Given the description of an element on the screen output the (x, y) to click on. 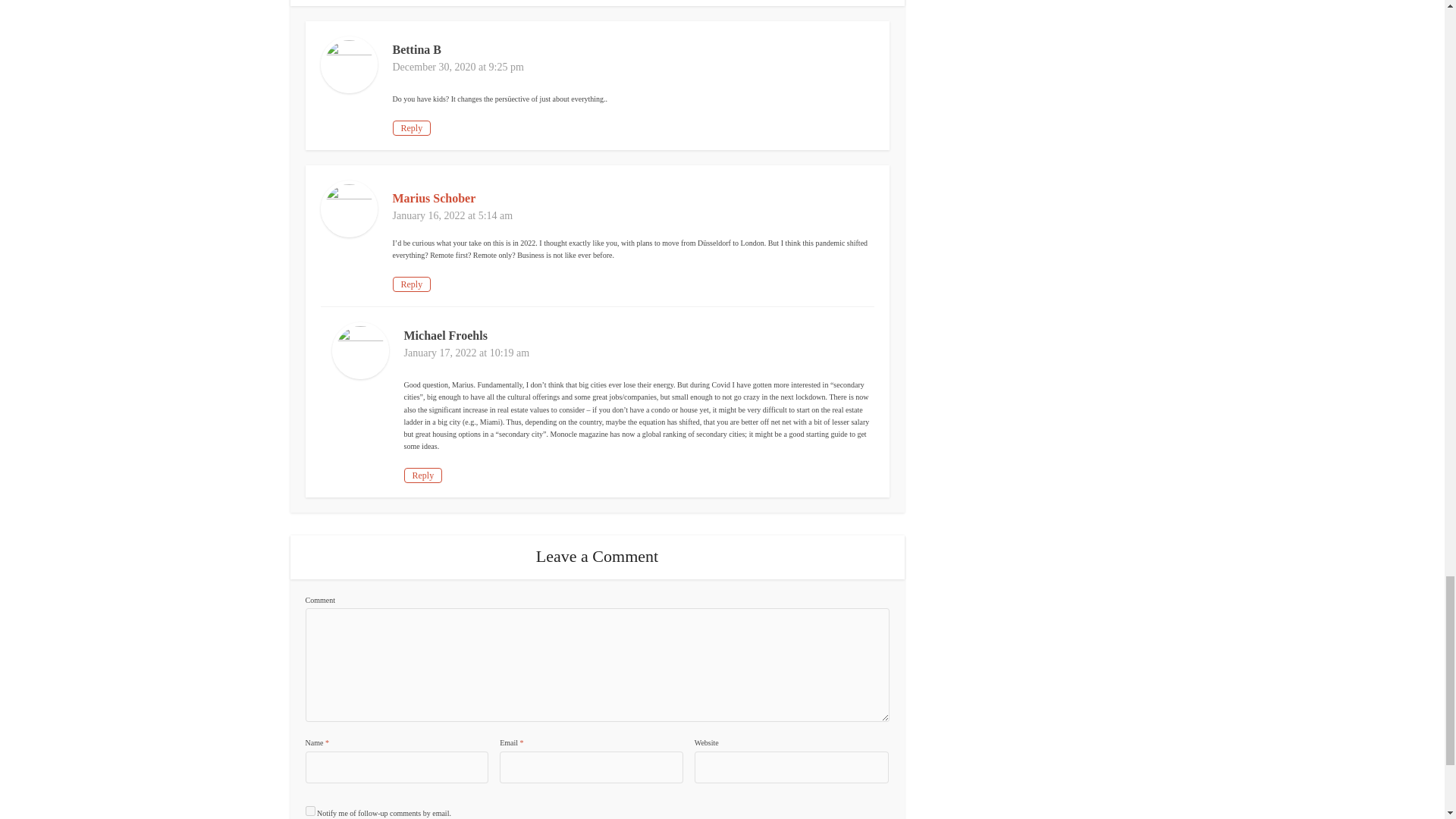
subscribe (309, 810)
